Given the description of an element on the screen output the (x, y) to click on. 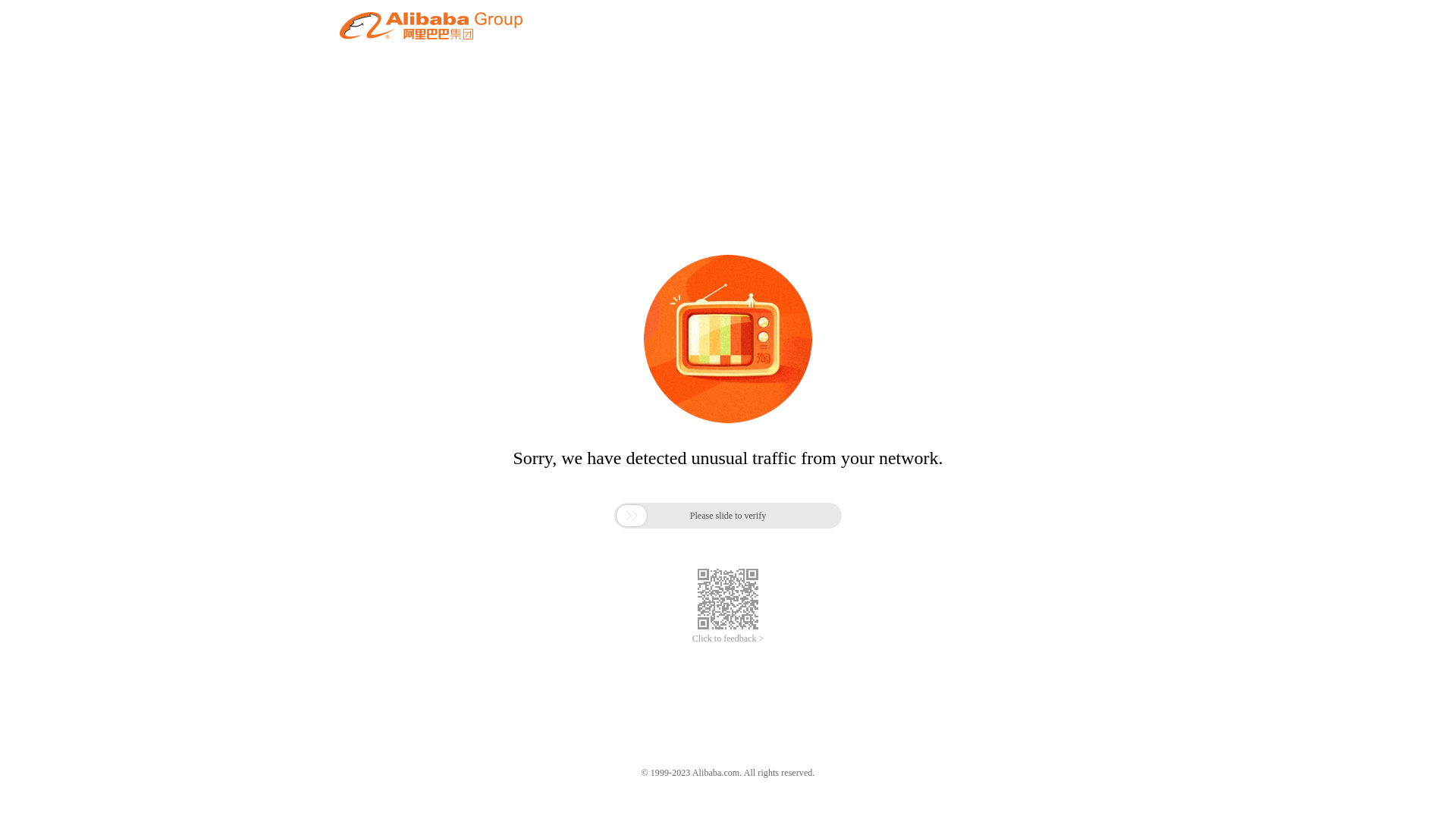
Click to feedback > Element type: text (727, 638)
